Given the description of an element on the screen output the (x, y) to click on. 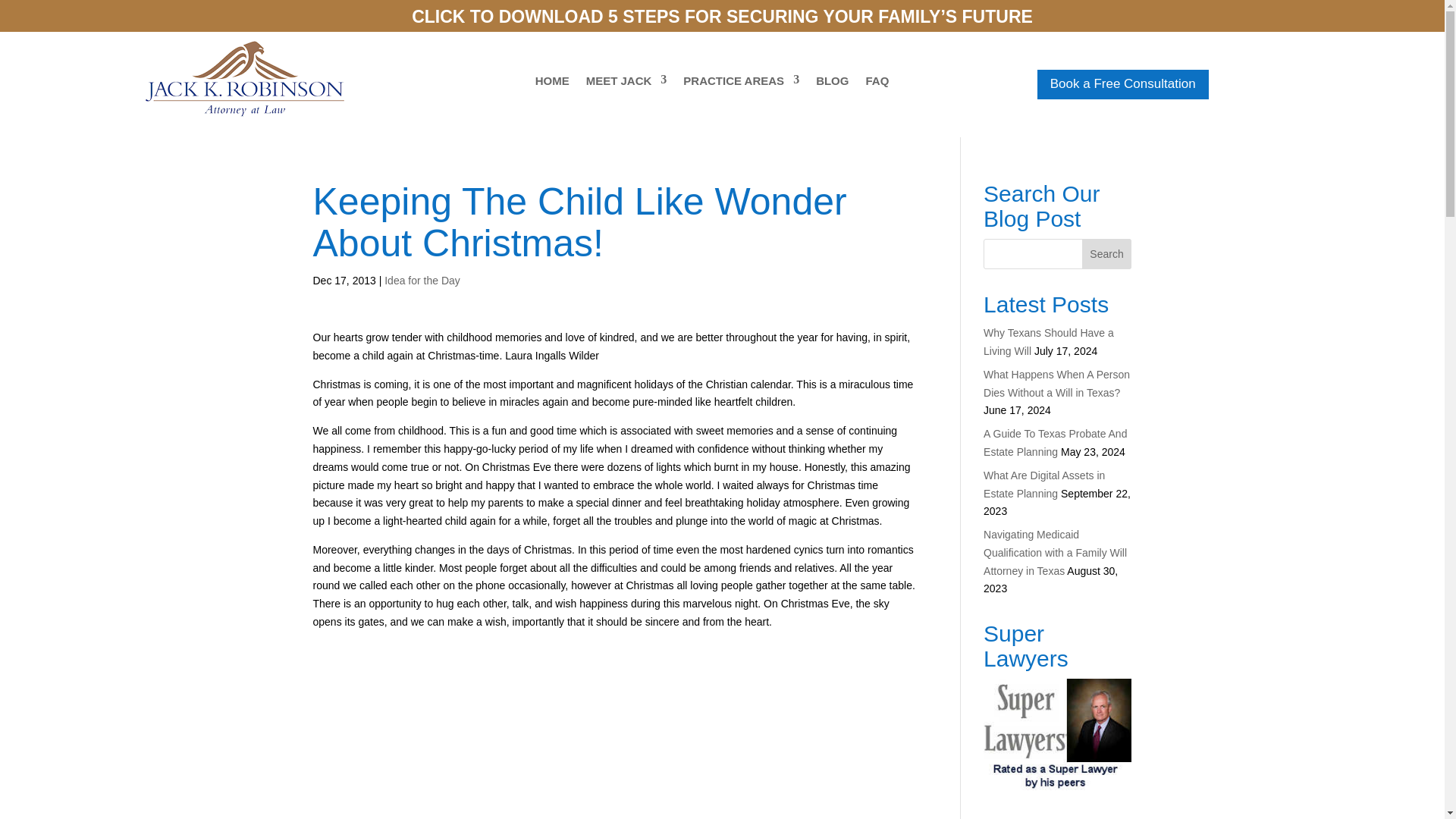
BLOG (831, 84)
A Guide To Texas Probate And Estate Planning (1055, 442)
Book a Free Consultation (1122, 84)
HOME (552, 84)
Search (1106, 254)
Jack-Robinson-Family-Law-Probate-Estate-Planning-Texas (245, 78)
FAQ (876, 84)
Why Texans Should Have a Living Will (1048, 341)
MEET JACK (626, 84)
